Given the description of an element on the screen output the (x, y) to click on. 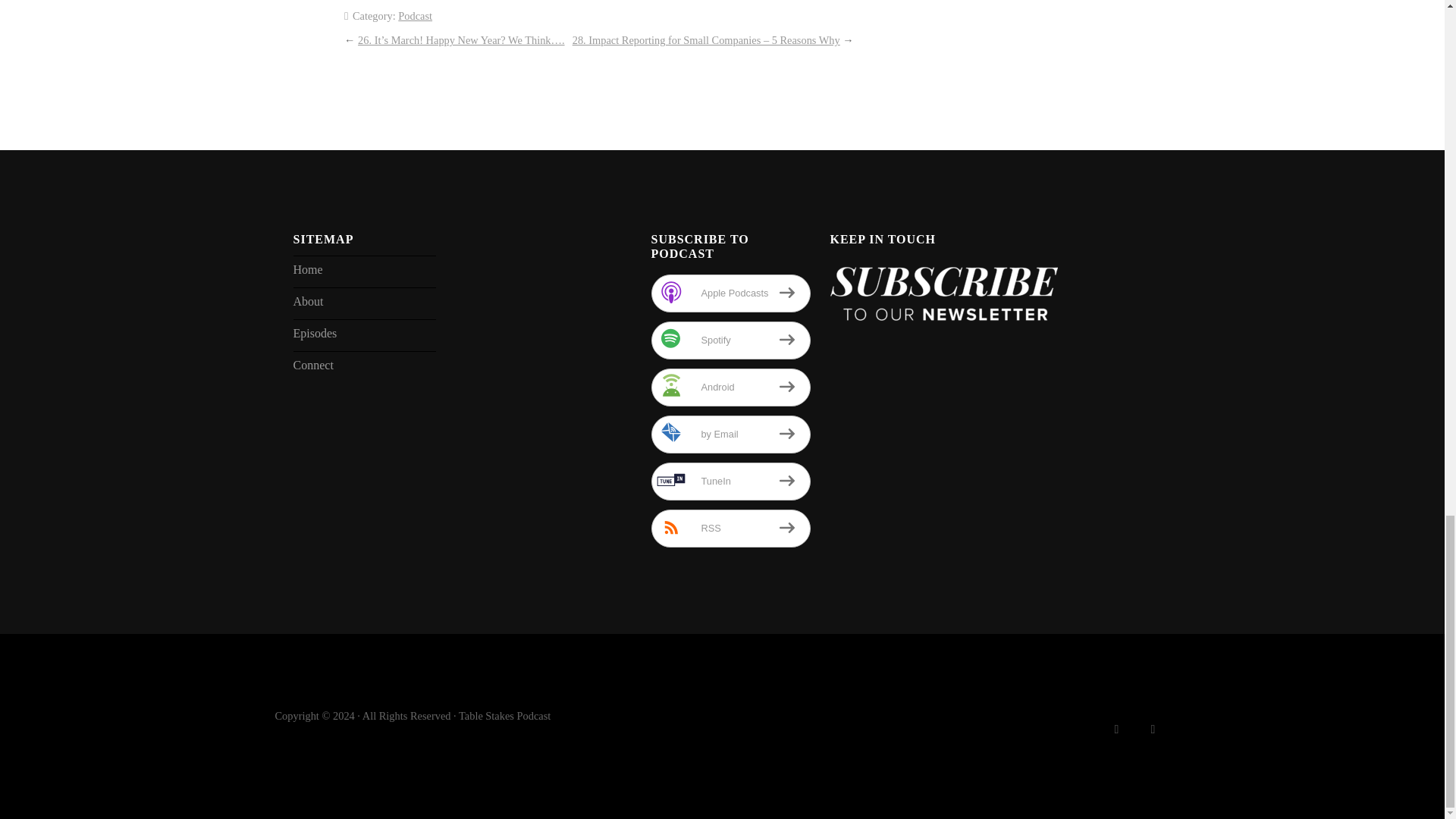
Subscribe on TuneIn (729, 481)
Episodes (363, 335)
About (363, 303)
Android (729, 387)
Subscribe on Android (729, 387)
Podcast (414, 15)
Subscribe by Email (729, 434)
Subscribe on Apple Podcasts (729, 293)
RSS (729, 528)
TuneIn (729, 481)
Connect (363, 367)
Subscribe on Spotify (729, 340)
by Email (729, 434)
Home (363, 271)
Apple Podcasts (729, 293)
